Given the description of an element on the screen output the (x, y) to click on. 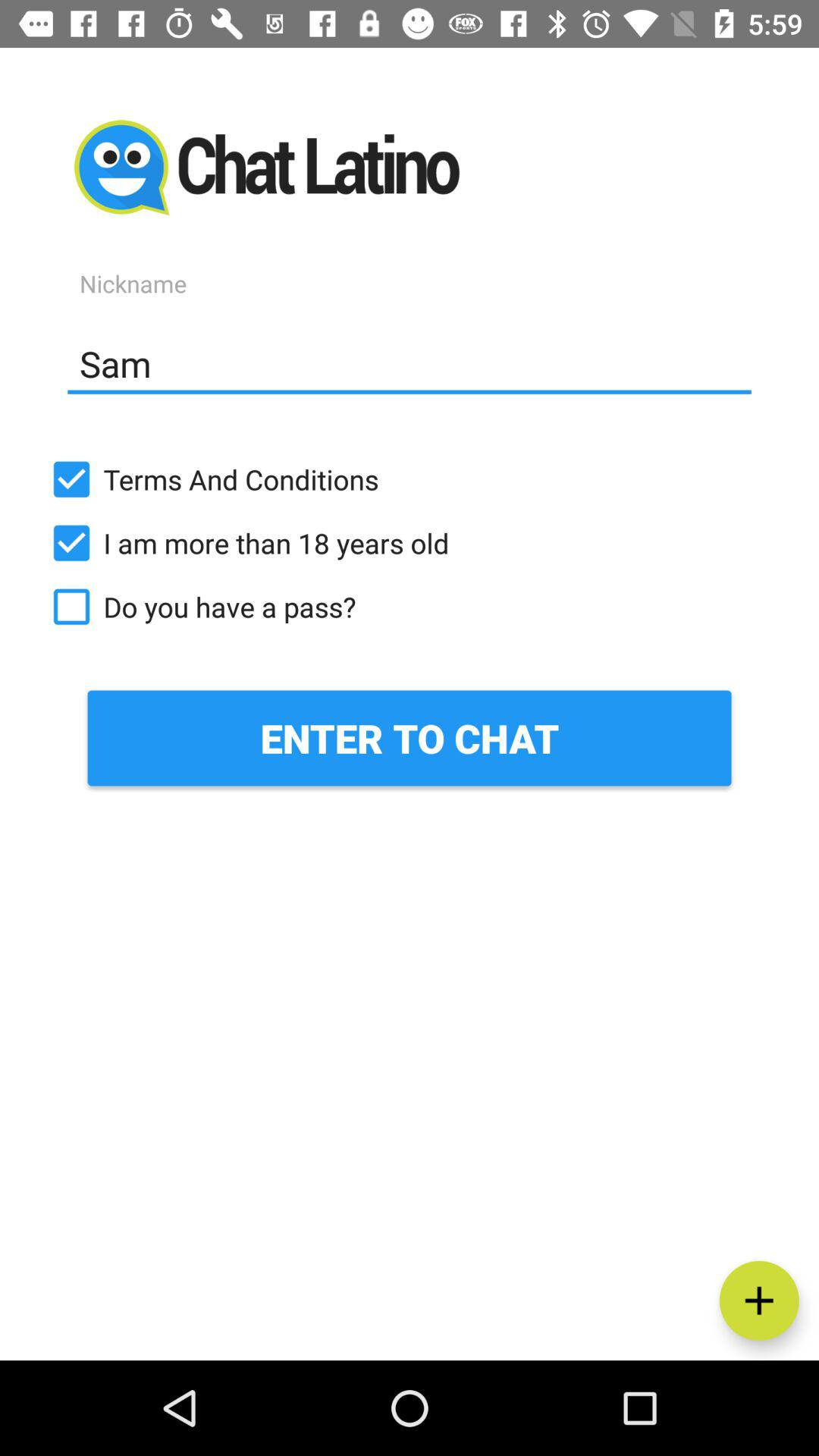
launch the i am more item (409, 543)
